Given the description of an element on the screen output the (x, y) to click on. 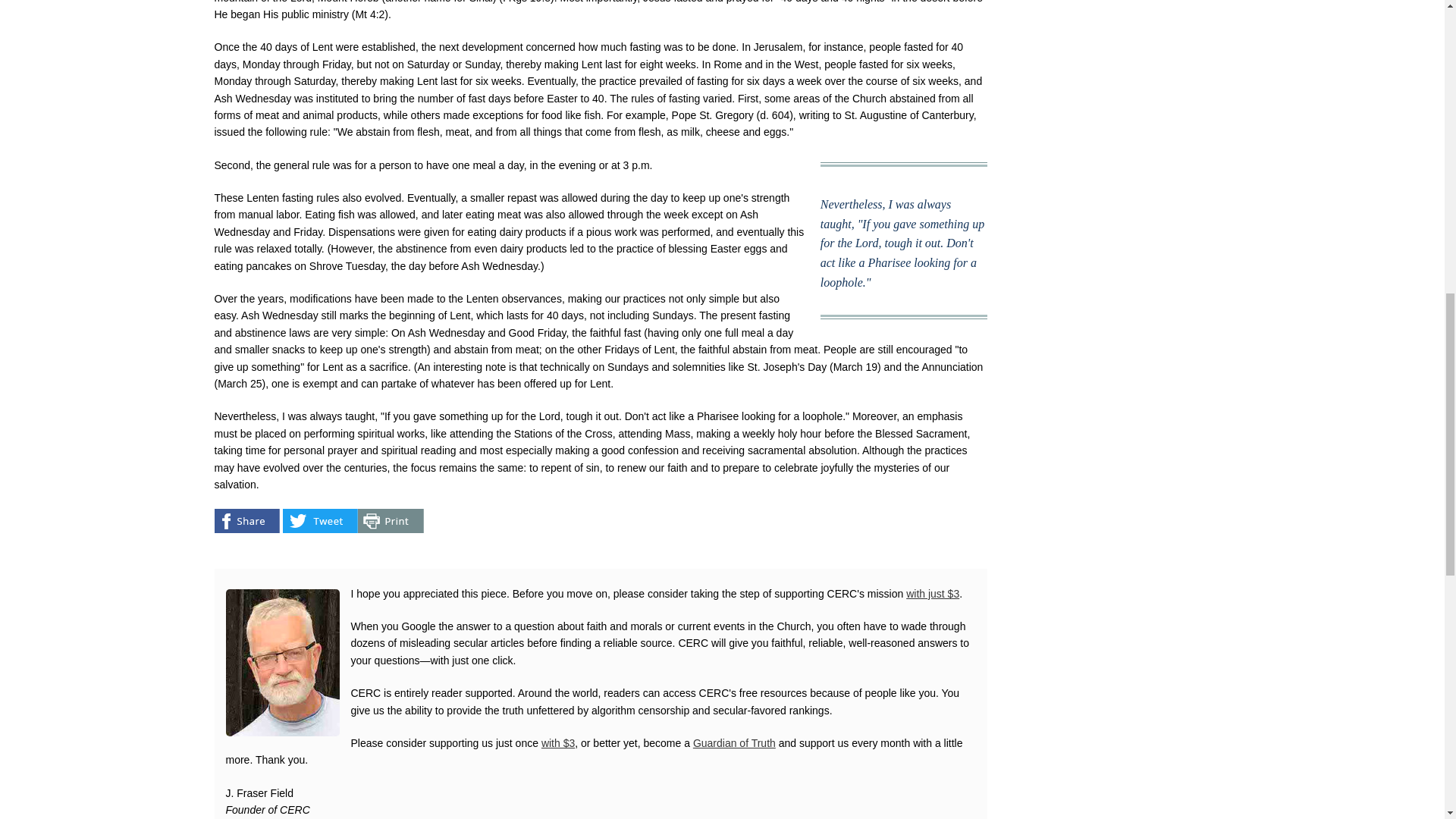
Guardian of Truth (734, 743)
